Given the description of an element on the screen output the (x, y) to click on. 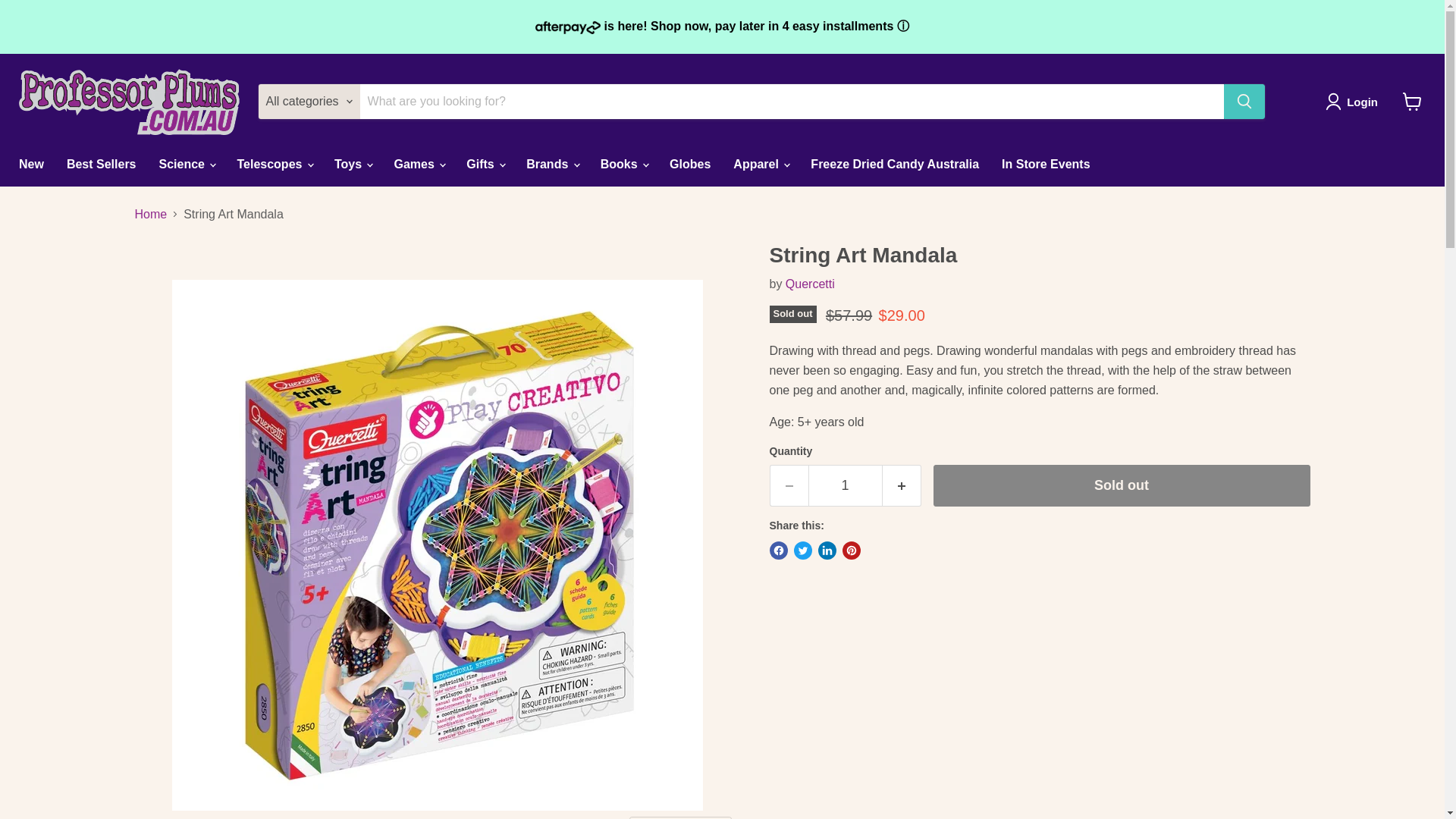
Login (1354, 101)
View cart (1411, 101)
New (31, 164)
Quercetti (810, 283)
Best Sellers (101, 164)
1 (845, 485)
